Given the description of an element on the screen output the (x, y) to click on. 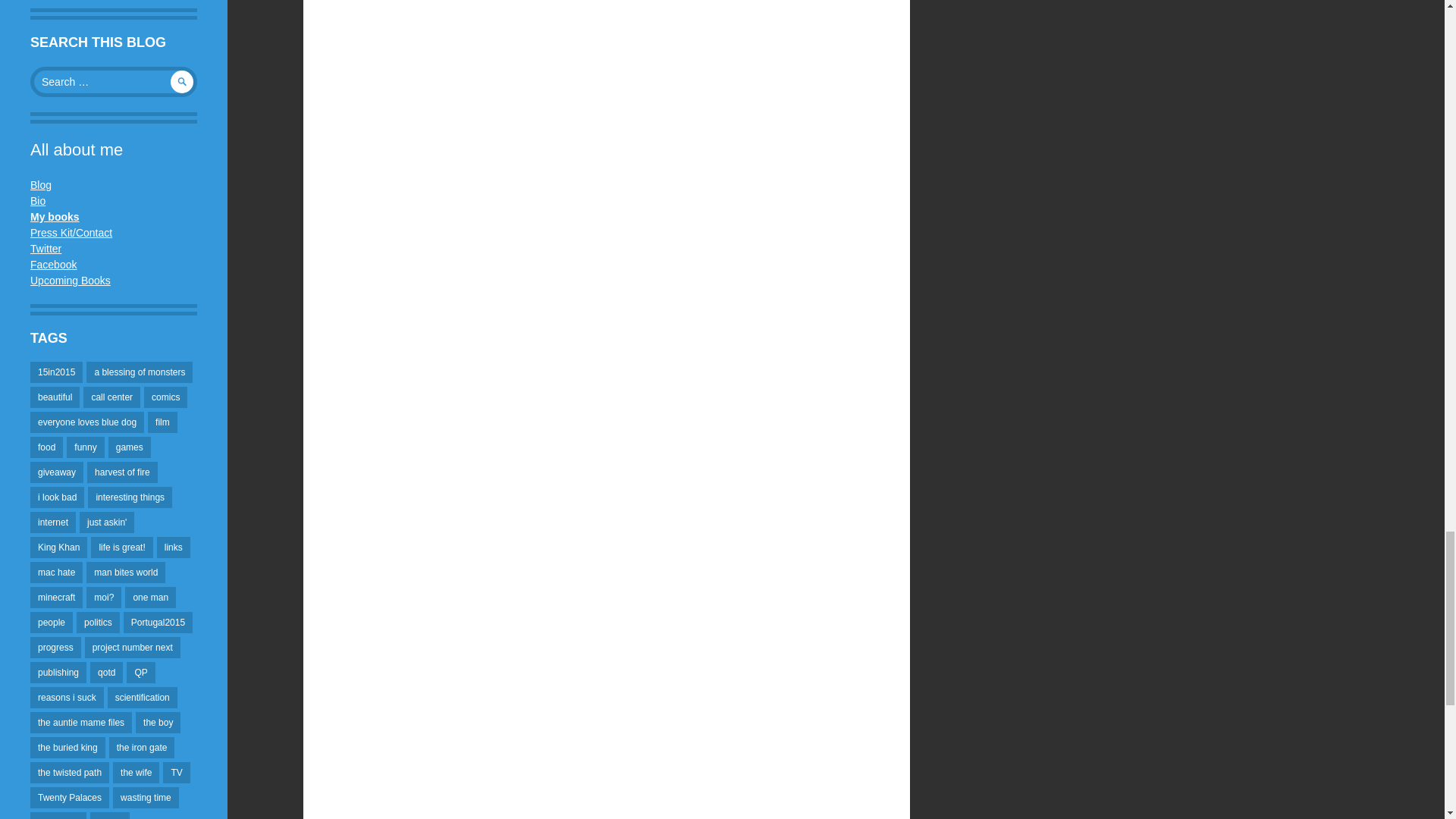
Home page (55, 216)
Of a sort (37, 200)
Search for: (113, 81)
